Given the description of an element on the screen output the (x, y) to click on. 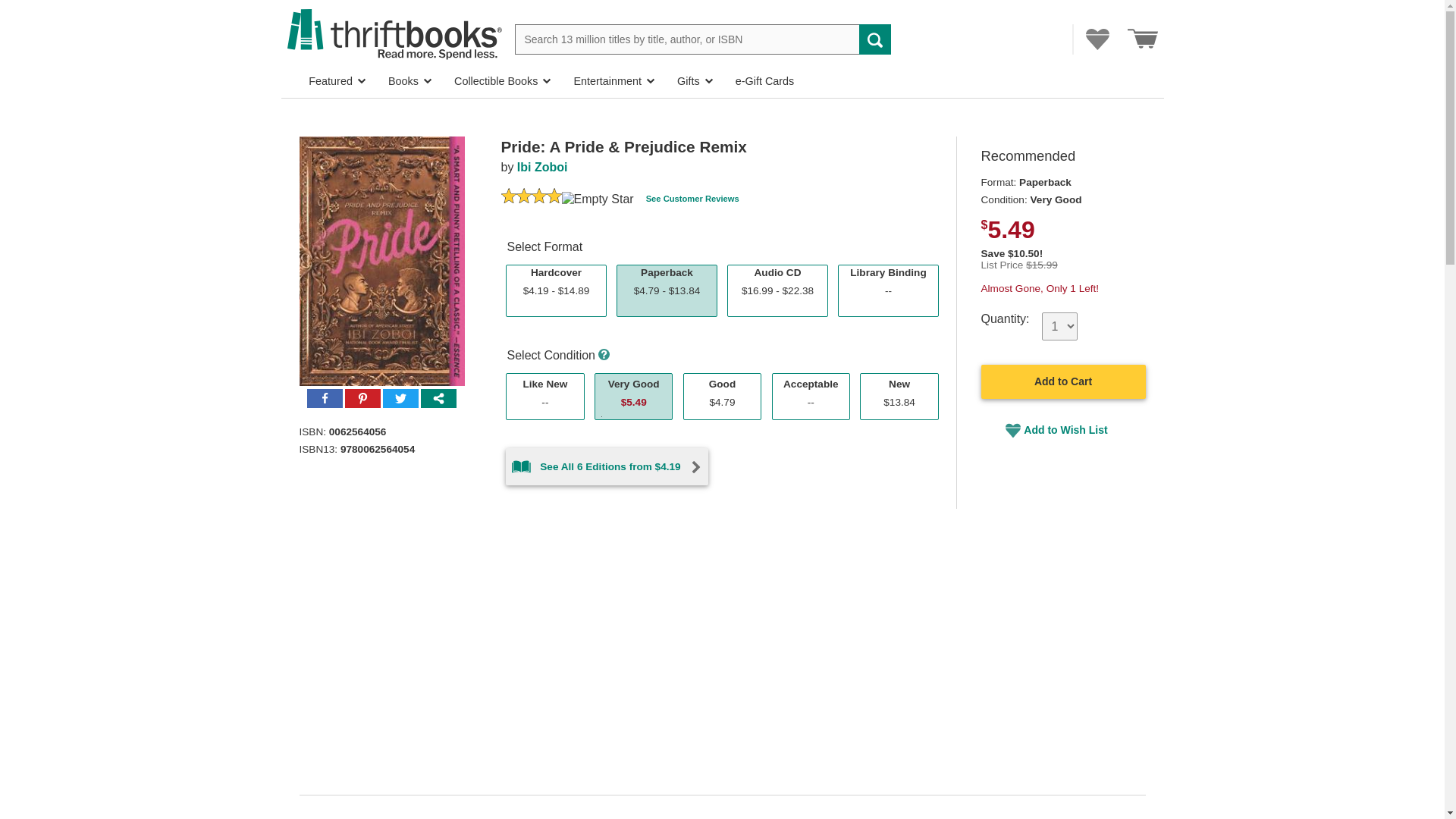
Log in to rate this book (507, 198)
See Customer Reviews (692, 198)
Entertainment (613, 81)
Featured (336, 81)
Collectible Books (887, 290)
Share to Twitter (502, 81)
Add to Cart (810, 396)
Gifts (400, 399)
Log in to rate this book (1063, 381)
Share to Pinterest (544, 396)
Ibi Zoboi (694, 81)
Log in to rate this book (553, 198)
